Given the description of an element on the screen output the (x, y) to click on. 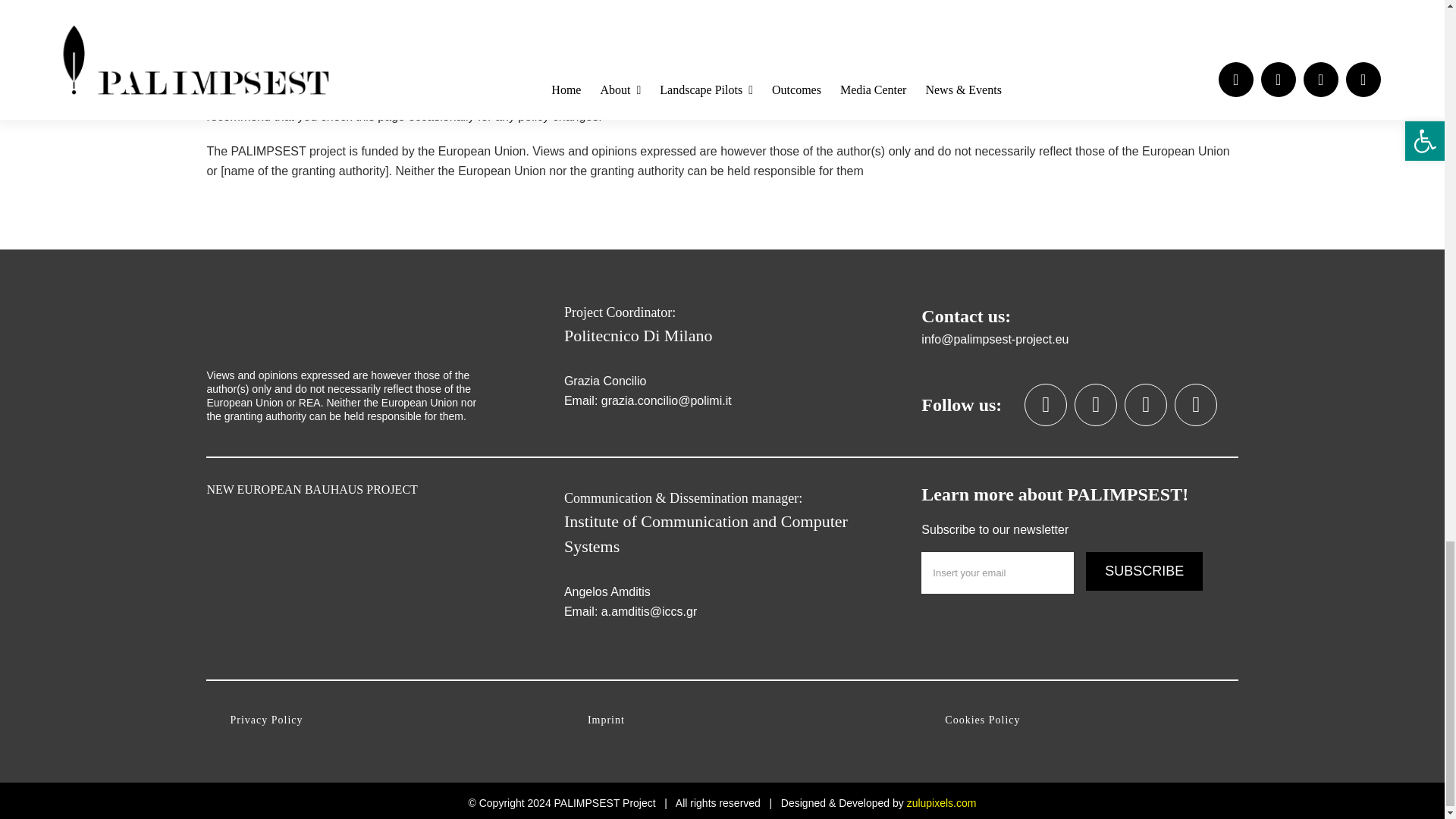
Subscribe (1144, 571)
EN-Funded-by-the-EU-NEG (346, 325)
X (1046, 404)
LinkedIn (1095, 404)
